Given the description of an element on the screen output the (x, y) to click on. 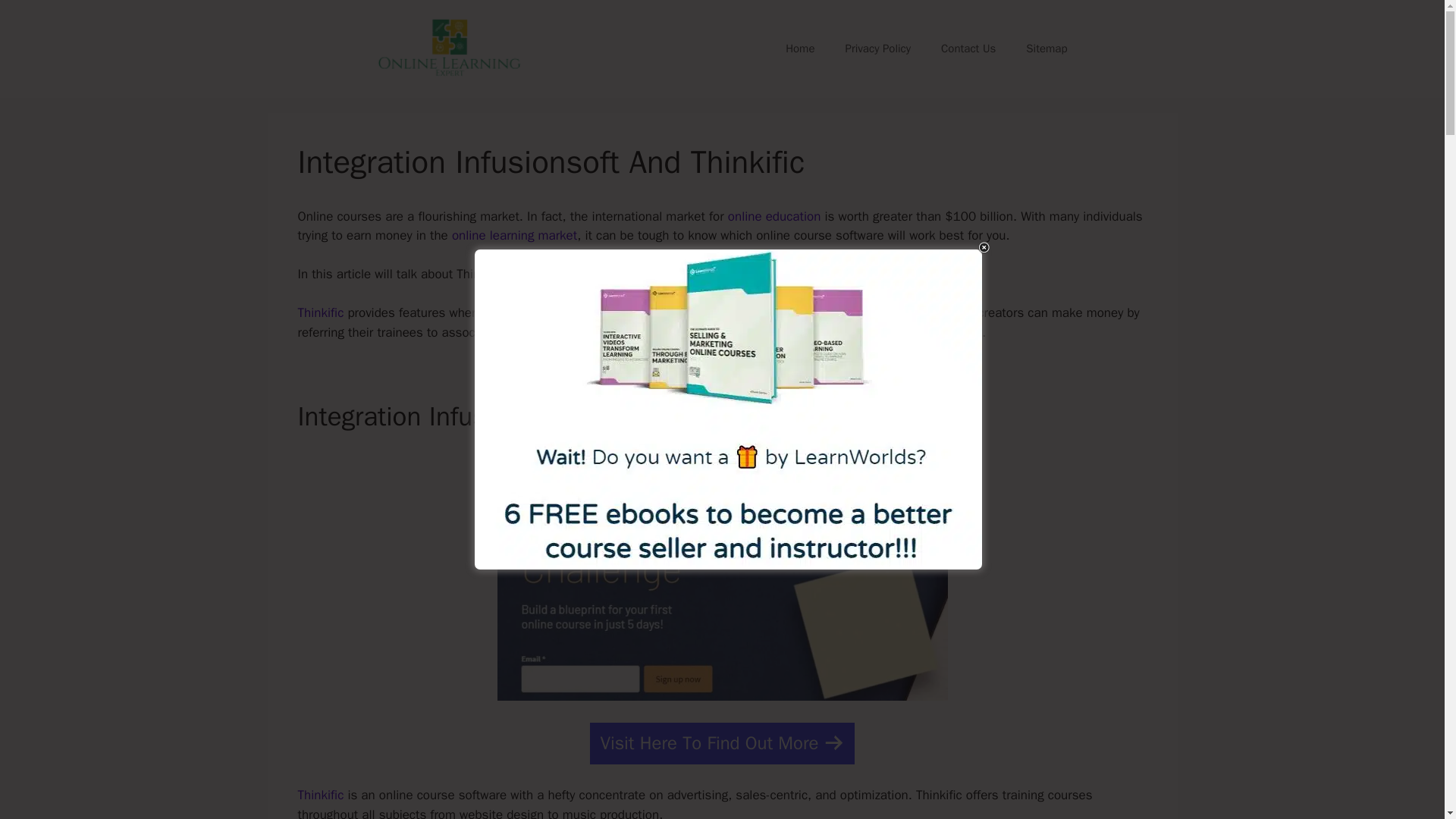
Contact Us (968, 48)
Close (984, 247)
Visit Here To Find Out More (721, 743)
online education (774, 216)
Home (799, 48)
Thinkific (320, 312)
online learning market (513, 235)
Privacy Policy (877, 48)
Sitemap (1045, 48)
Thinkific (320, 795)
